Given the description of an element on the screen output the (x, y) to click on. 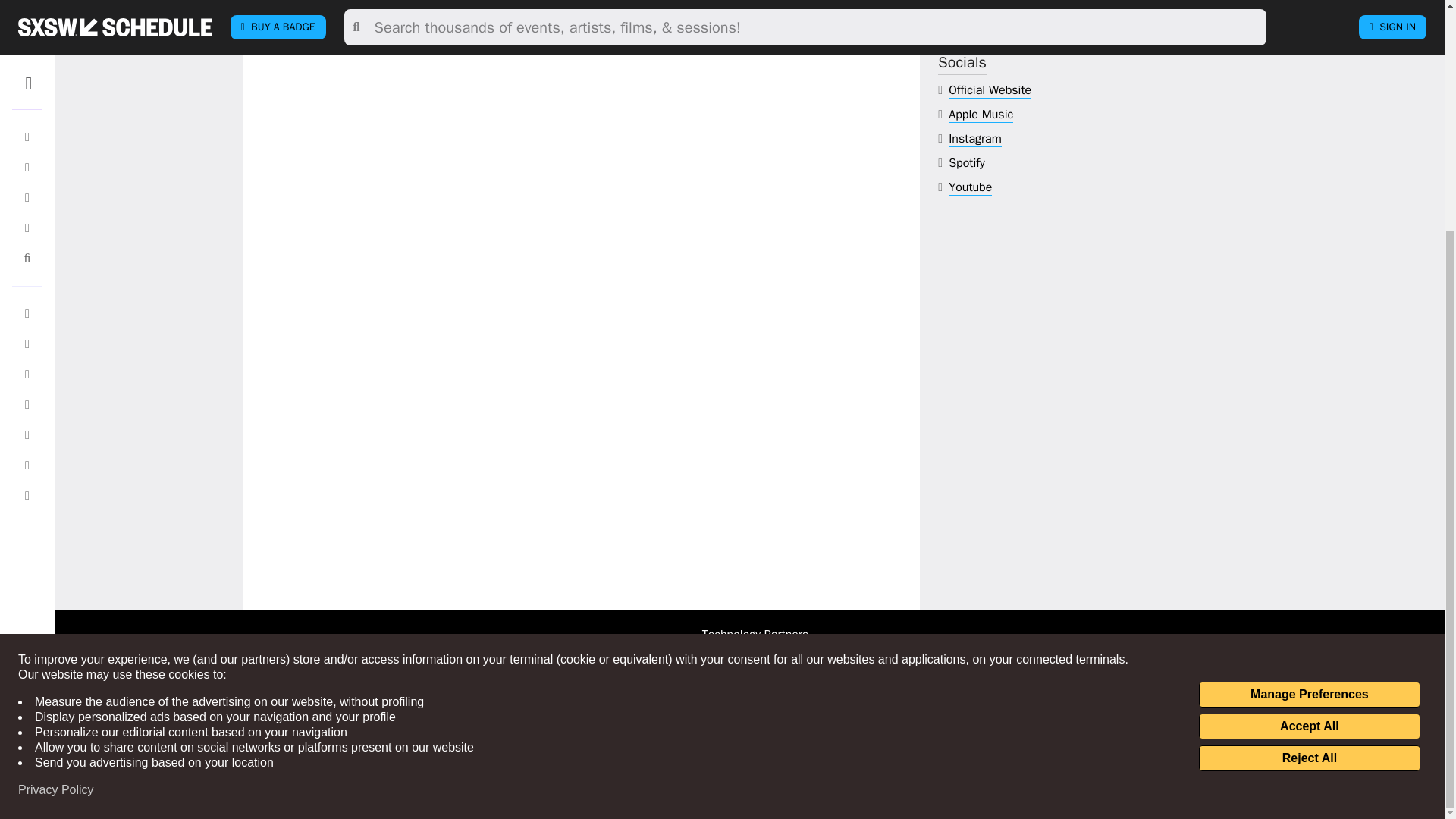
spotify (967, 163)
Accept All (1309, 413)
instagram (975, 139)
website (989, 90)
youtube (970, 187)
Privacy Policy (55, 477)
apple (981, 114)
Reject All (1309, 445)
Manage Preferences (1309, 381)
